Given the description of an element on the screen output the (x, y) to click on. 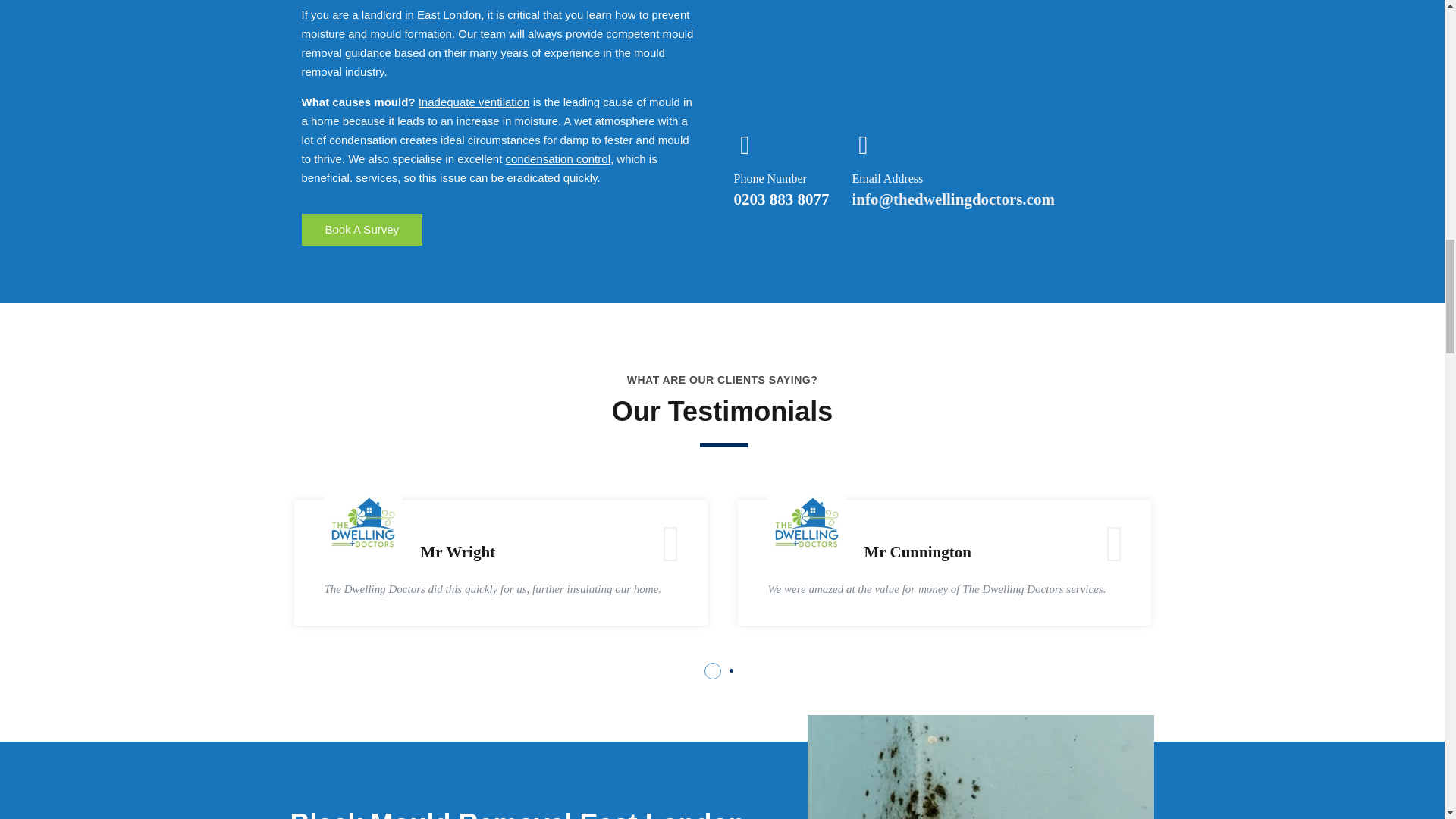
Inadequate ventilation (474, 101)
black-mould (981, 766)
condensation control (557, 158)
The Dwelling Doctors - Full Promo (937, 53)
Book A Survey (362, 229)
